Given the description of an element on the screen output the (x, y) to click on. 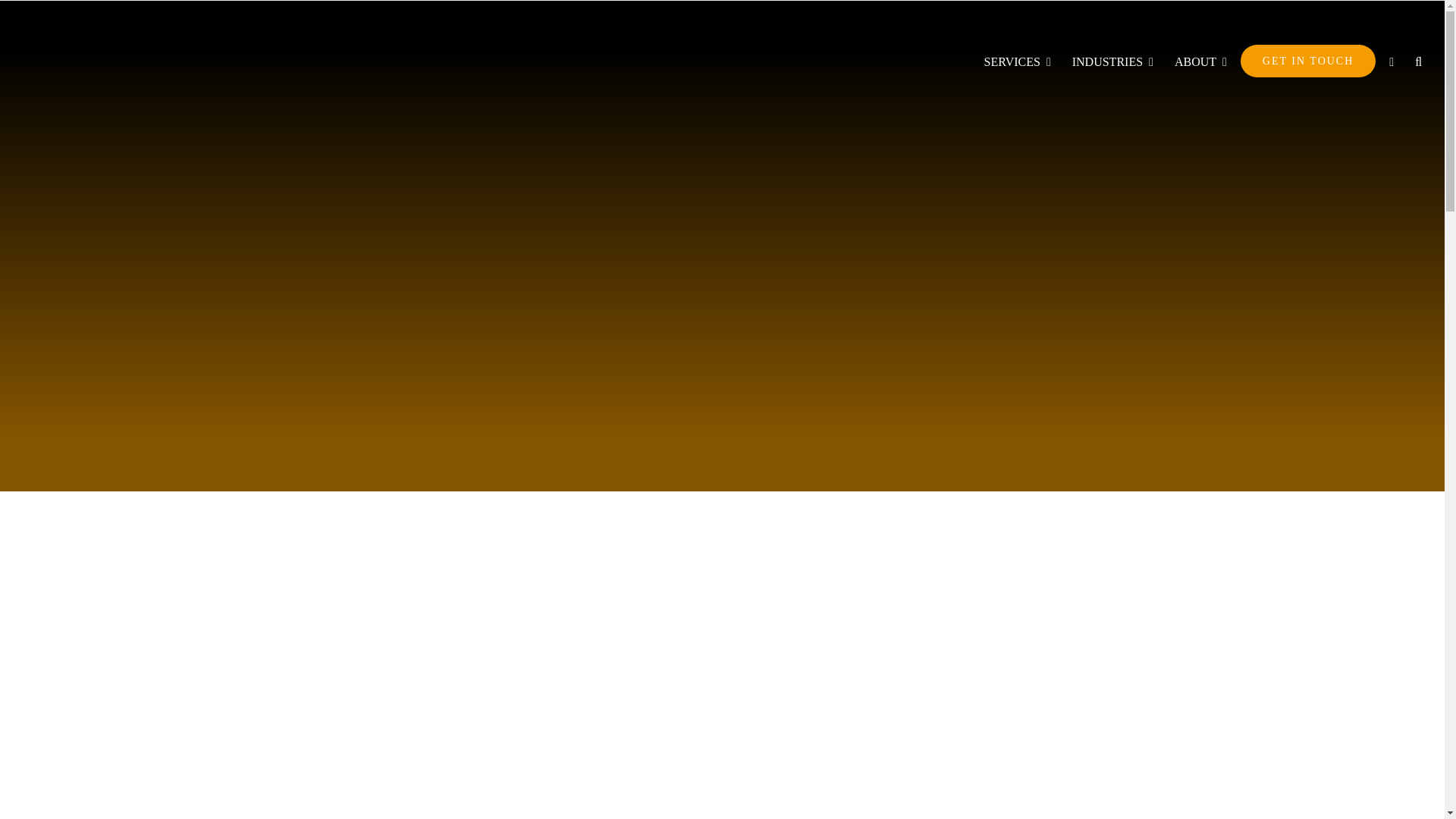
SERVICES (1017, 60)
ABOUT (1200, 60)
INDUSTRIES (1112, 60)
INDUSTRIES (1112, 60)
SERVICES (1017, 60)
ABOUT (1200, 60)
GET IN TOUCH (1307, 60)
